Given the description of an element on the screen output the (x, y) to click on. 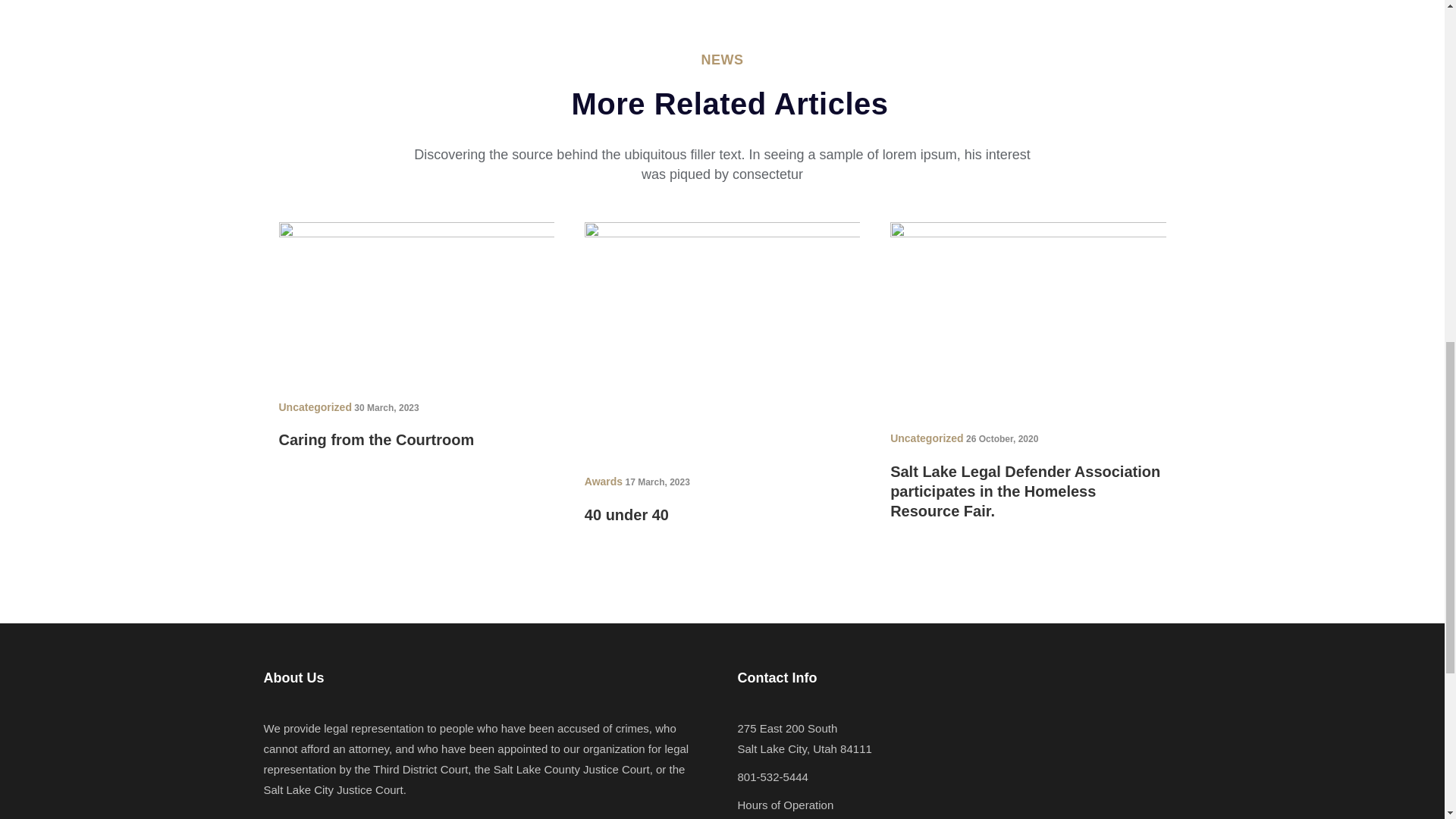
Caring from the Courtroom (376, 439)
Caring from the Courtroom (416, 298)
40 under 40 (722, 336)
40 under 40 (626, 514)
